Given the description of an element on the screen output the (x, y) to click on. 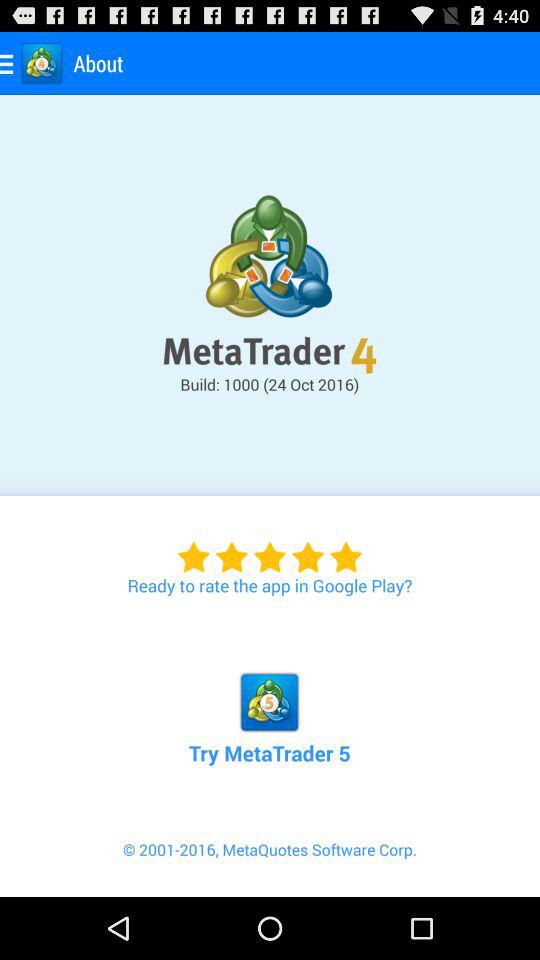
scroll until try metatrader 5 icon (269, 696)
